Given the description of an element on the screen output the (x, y) to click on. 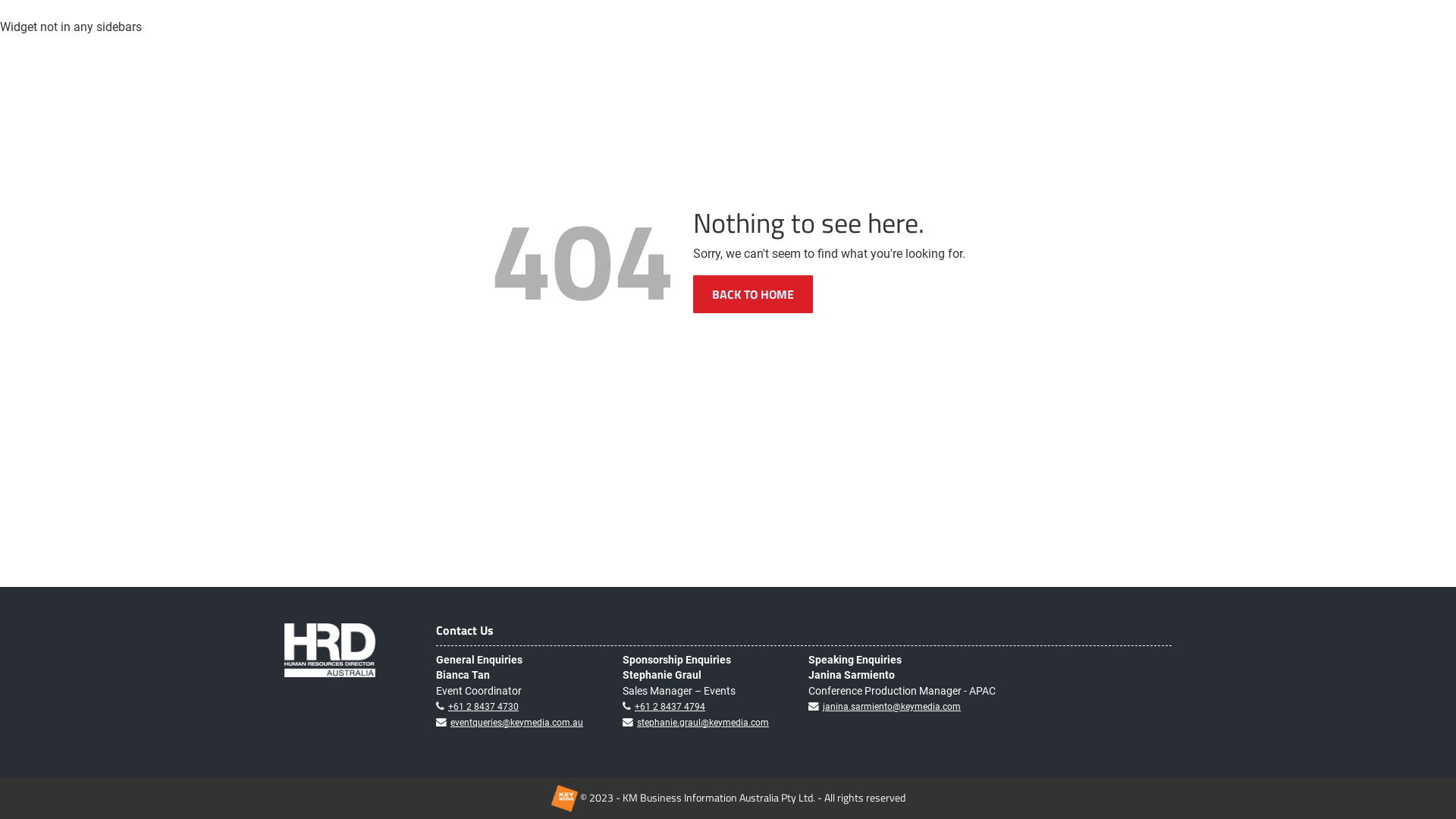
stephanie.graul@keymedia.com Element type: text (702, 722)
BACK TO HOME Element type: text (752, 294)
+61 2 8437 4794 Element type: text (669, 706)
eventqueries@keymedia.com.au Element type: text (516, 722)
+61 2 8437 4730 Element type: text (483, 706)
janina.sarmiento@keymedia.com Element type: text (891, 706)
